Given the description of an element on the screen output the (x, y) to click on. 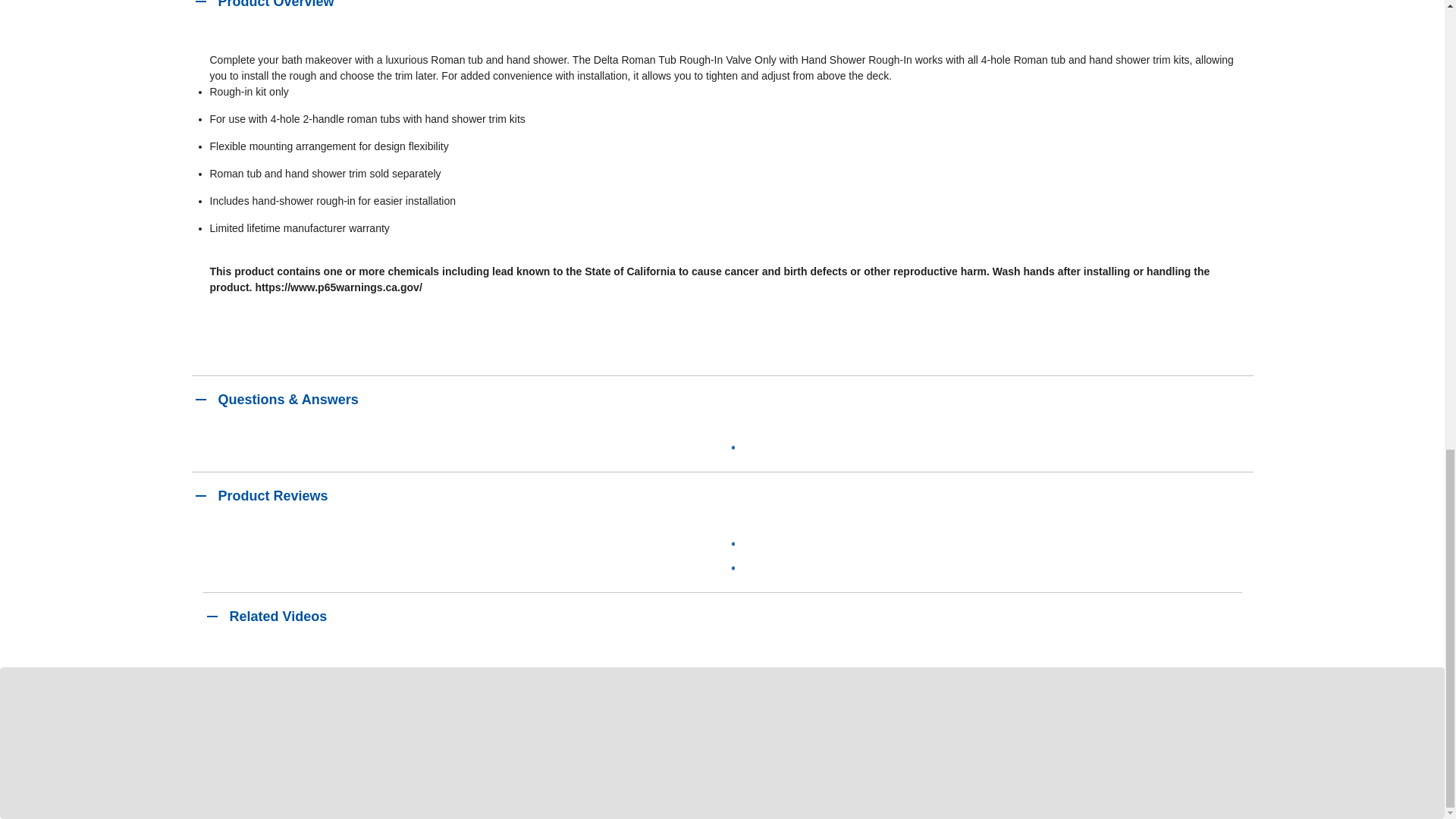
Product Reviews (721, 495)
Product Overview (721, 12)
Related Videos (722, 616)
